Given the description of an element on the screen output the (x, y) to click on. 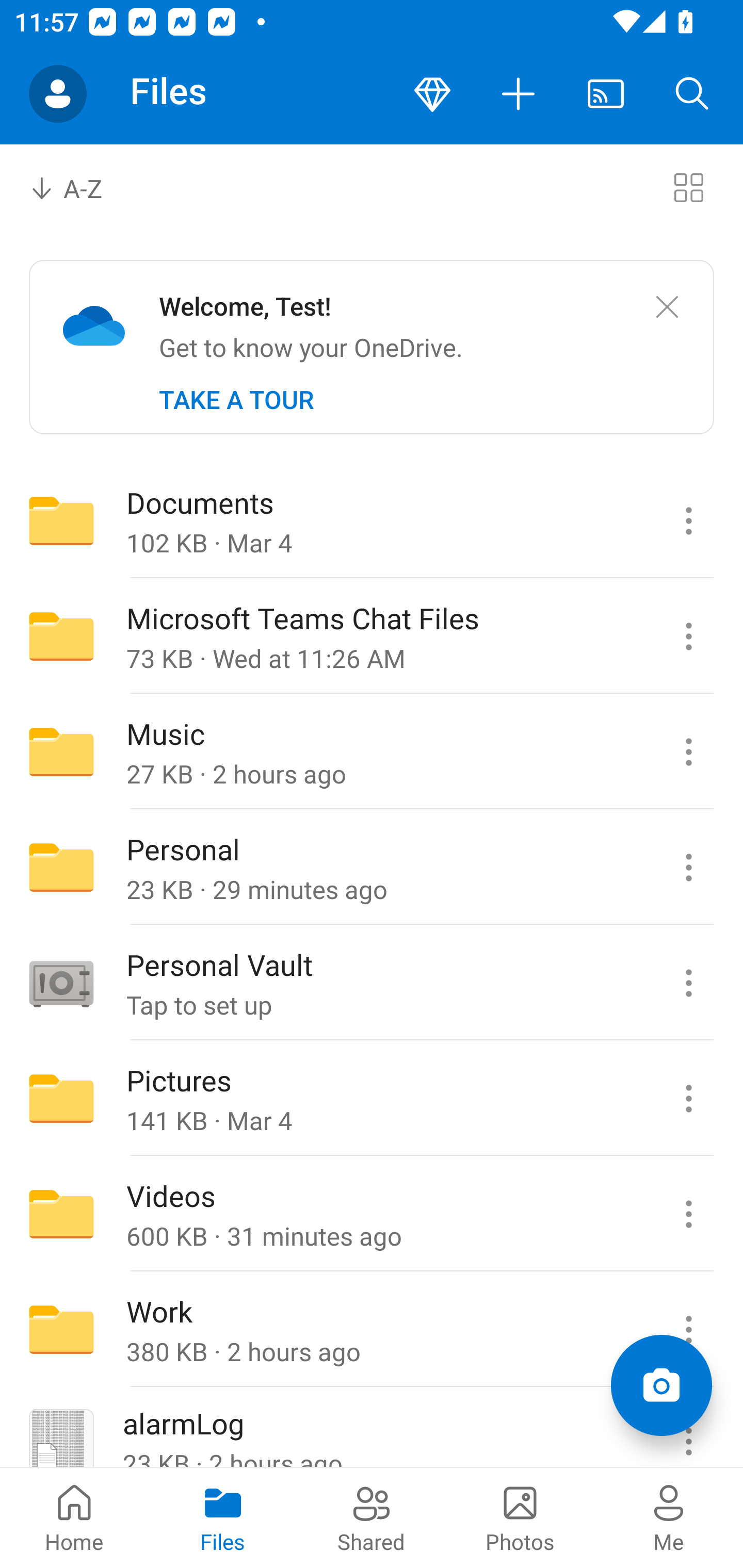
Account switcher (57, 93)
Cast. Disconnected (605, 93)
Premium button (432, 93)
More actions button (518, 93)
Search button (692, 93)
A-Z Sort by combo box, sort by name, A to Z (80, 187)
Switch to tiles view (688, 187)
Close (667, 307)
TAKE A TOUR (236, 399)
Folder Documents 102 KB · Mar 4 Documents commands (371, 520)
Documents commands (688, 520)
Microsoft Teams Chat Files commands (688, 636)
Folder Music 27 KB · 2 hours ago Music commands (371, 751)
Music commands (688, 751)
Personal commands (688, 867)
Personal Vault commands (688, 983)
Folder Pictures 141 KB · Mar 4 Pictures commands (371, 1099)
Pictures commands (688, 1099)
Videos commands (688, 1214)
Folder Work 380 KB · 2 hours ago Work commands (371, 1329)
Work commands (688, 1329)
Add items Scan (660, 1385)
alarmLog commands (688, 1427)
Home pivot Home (74, 1517)
Shared pivot Shared (371, 1517)
Photos pivot Photos (519, 1517)
Me pivot Me (668, 1517)
